Given the description of an element on the screen output the (x, y) to click on. 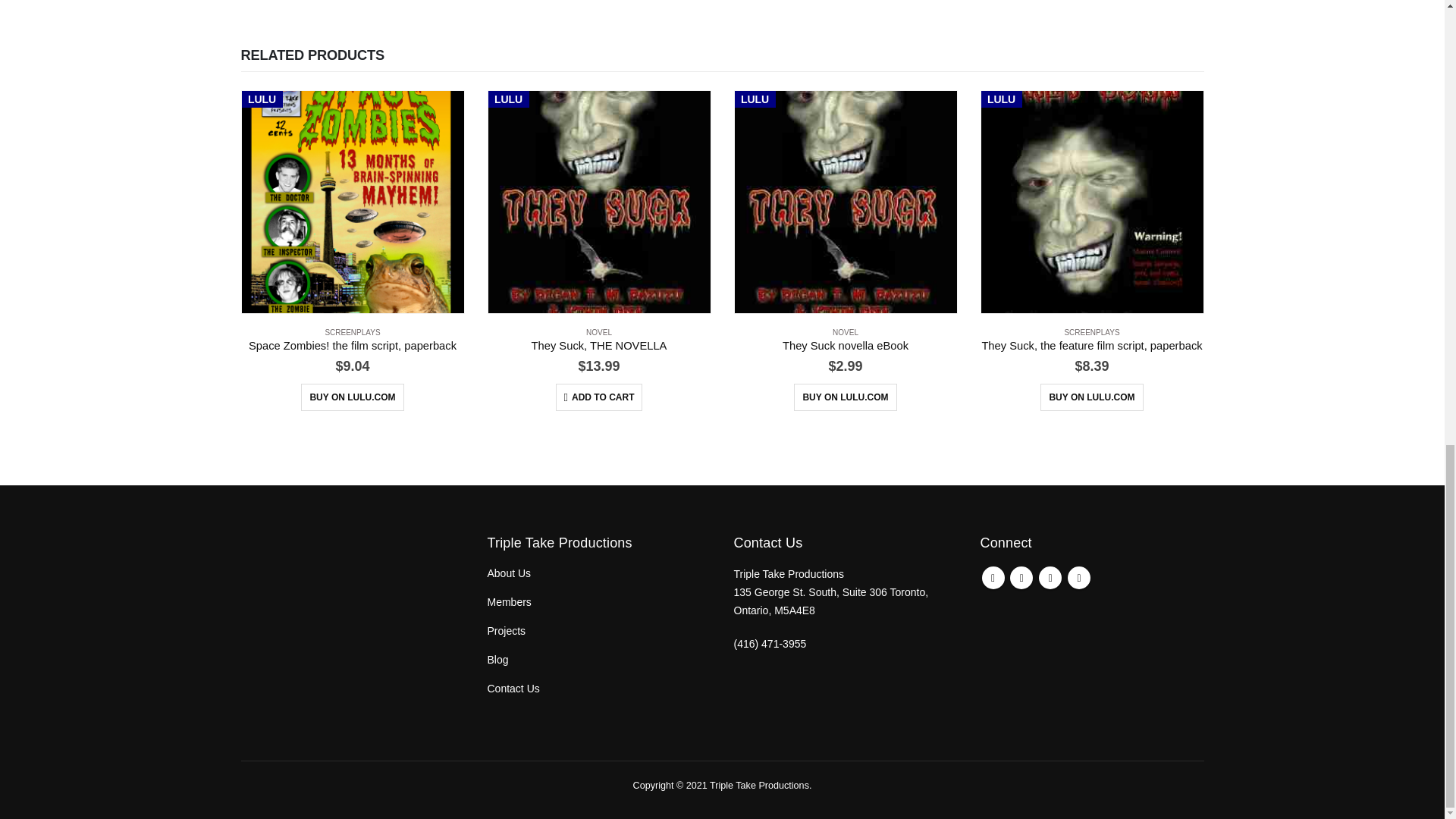
Instagram (1078, 577)
BUY ON LULU.COM (352, 397)
Twitter (1021, 577)
Youtube (1050, 577)
Space Zombies! the film script, paperback (352, 346)
NOVEL (598, 332)
Facebook (992, 577)
LULU (598, 201)
SCREENPLAYS (352, 332)
LULU (352, 201)
